Given the description of an element on the screen output the (x, y) to click on. 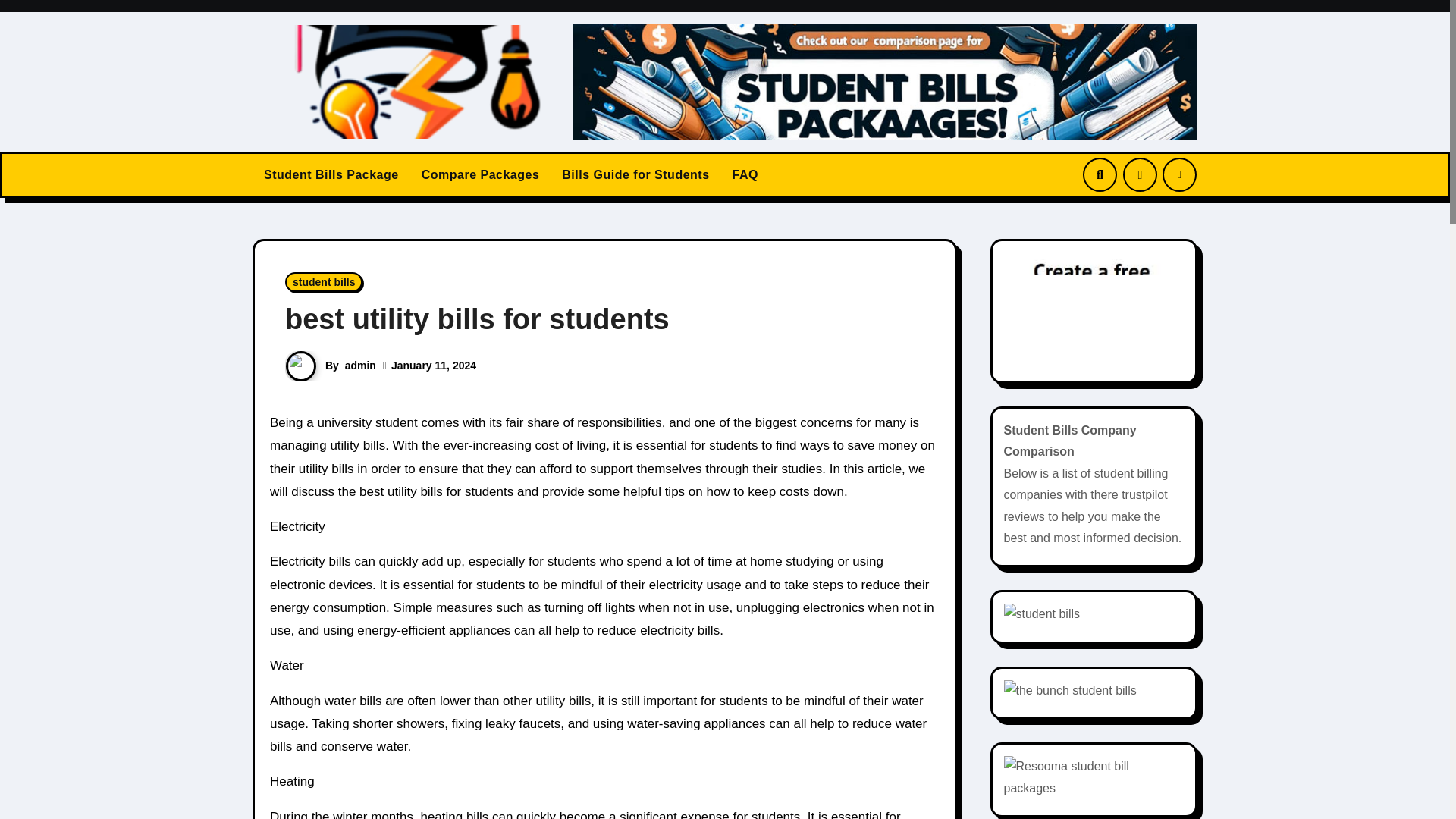
Bills Guide for Students (635, 174)
student bills (323, 281)
FAQ (745, 174)
Bills Guide for Students (635, 174)
best utility bills for students (477, 318)
Student Bills Package (330, 174)
admin (360, 365)
Compare Packages (480, 174)
Permalink to: best utility bills for students (477, 318)
FAQ (745, 174)
